Given the description of an element on the screen output the (x, y) to click on. 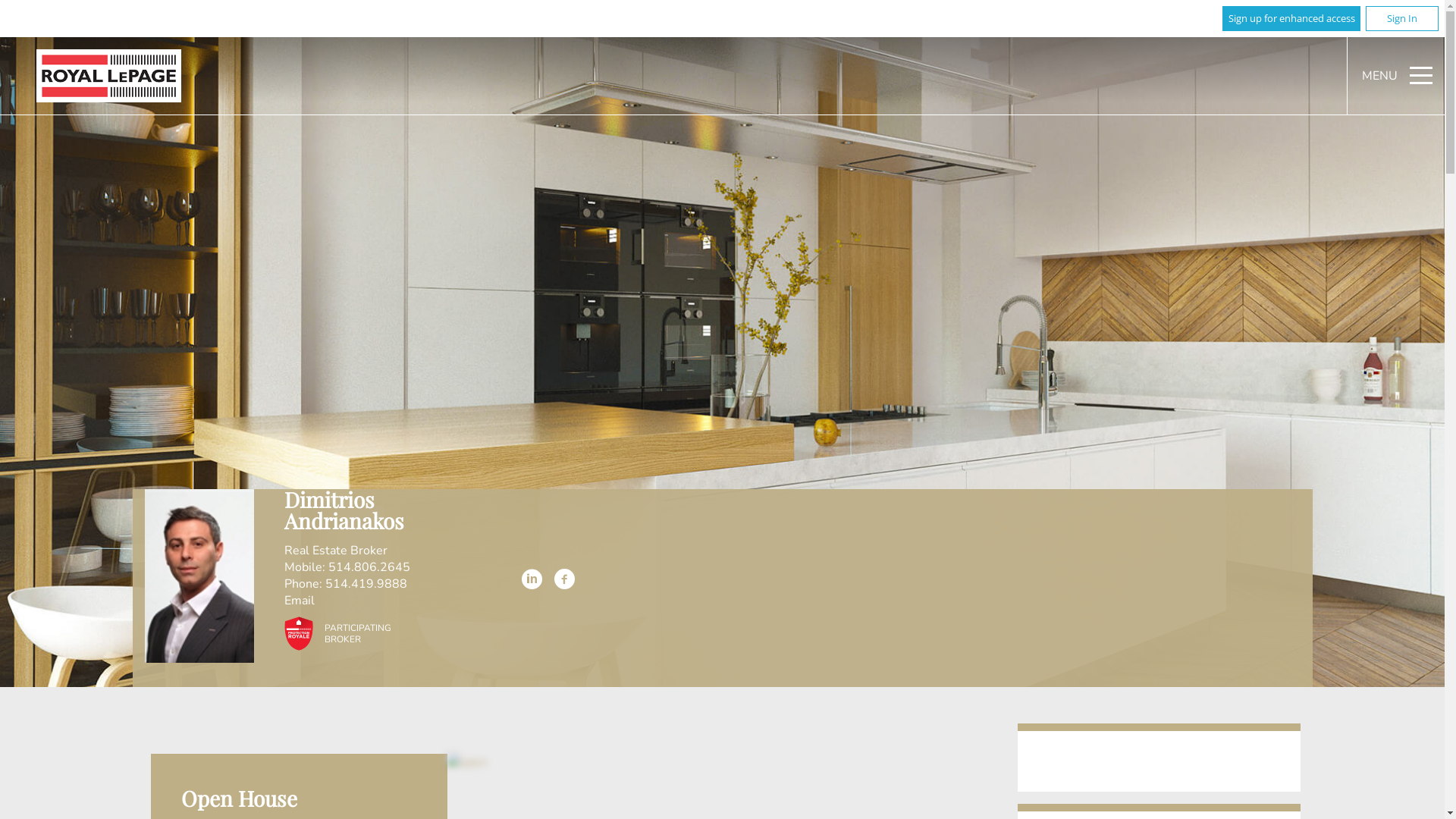
514.806.2645 Element type: text (369, 566)
PARTICIPATING BROKER Element type: text (333, 632)
Dimitrios Andrianakos Element type: hover (198, 575)
Email Element type: text (299, 601)
514.419.9888 Element type: text (366, 583)
